Given the description of an element on the screen output the (x, y) to click on. 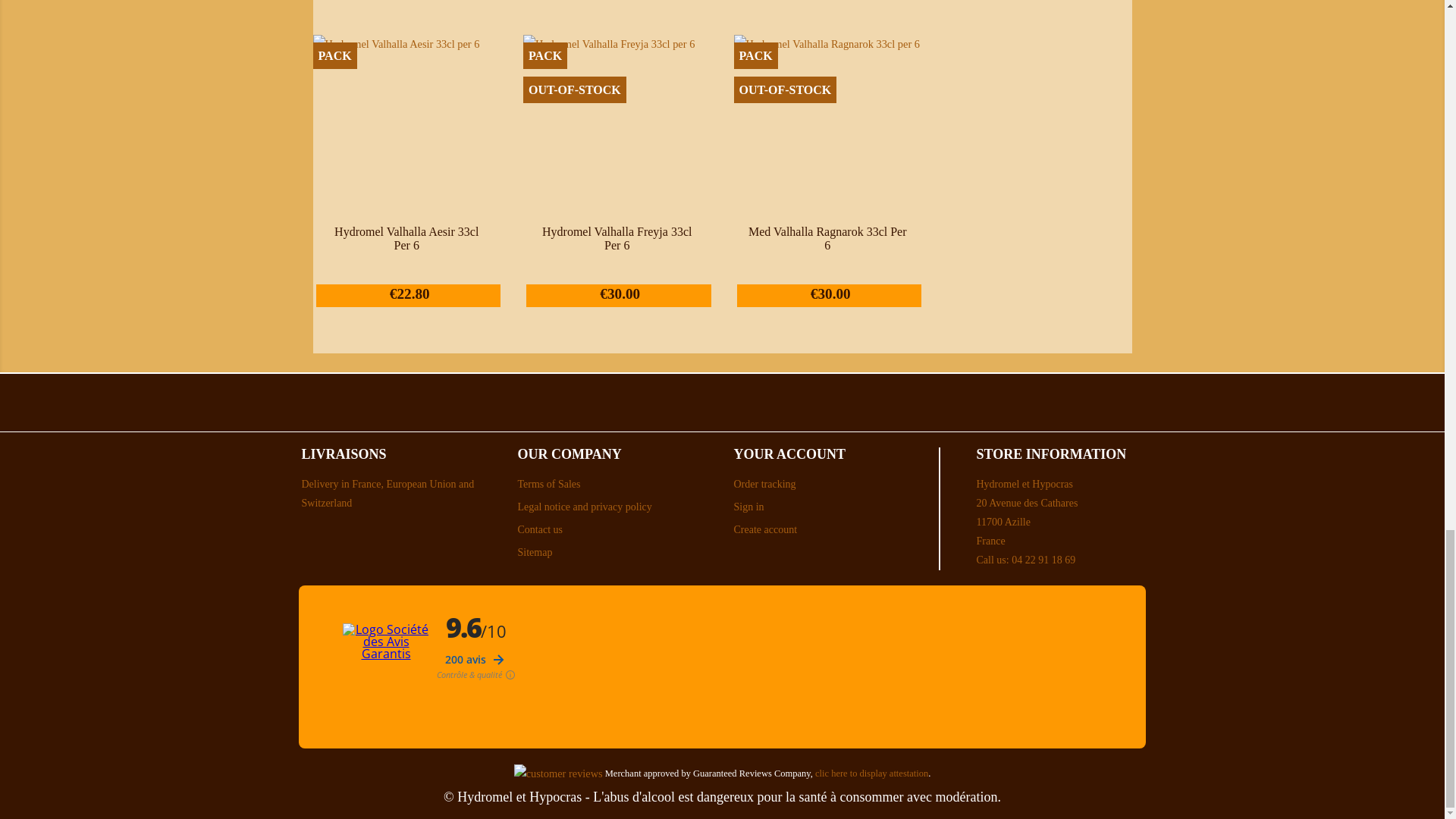
Log in to your customer account (748, 506)
Create account (765, 529)
Our terms and conditions of delivery (387, 493)
Order tracking (764, 483)
Use our form to contact us (539, 529)
Lost ? Find what your are looking for (533, 552)
